Given the description of an element on the screen output the (x, y) to click on. 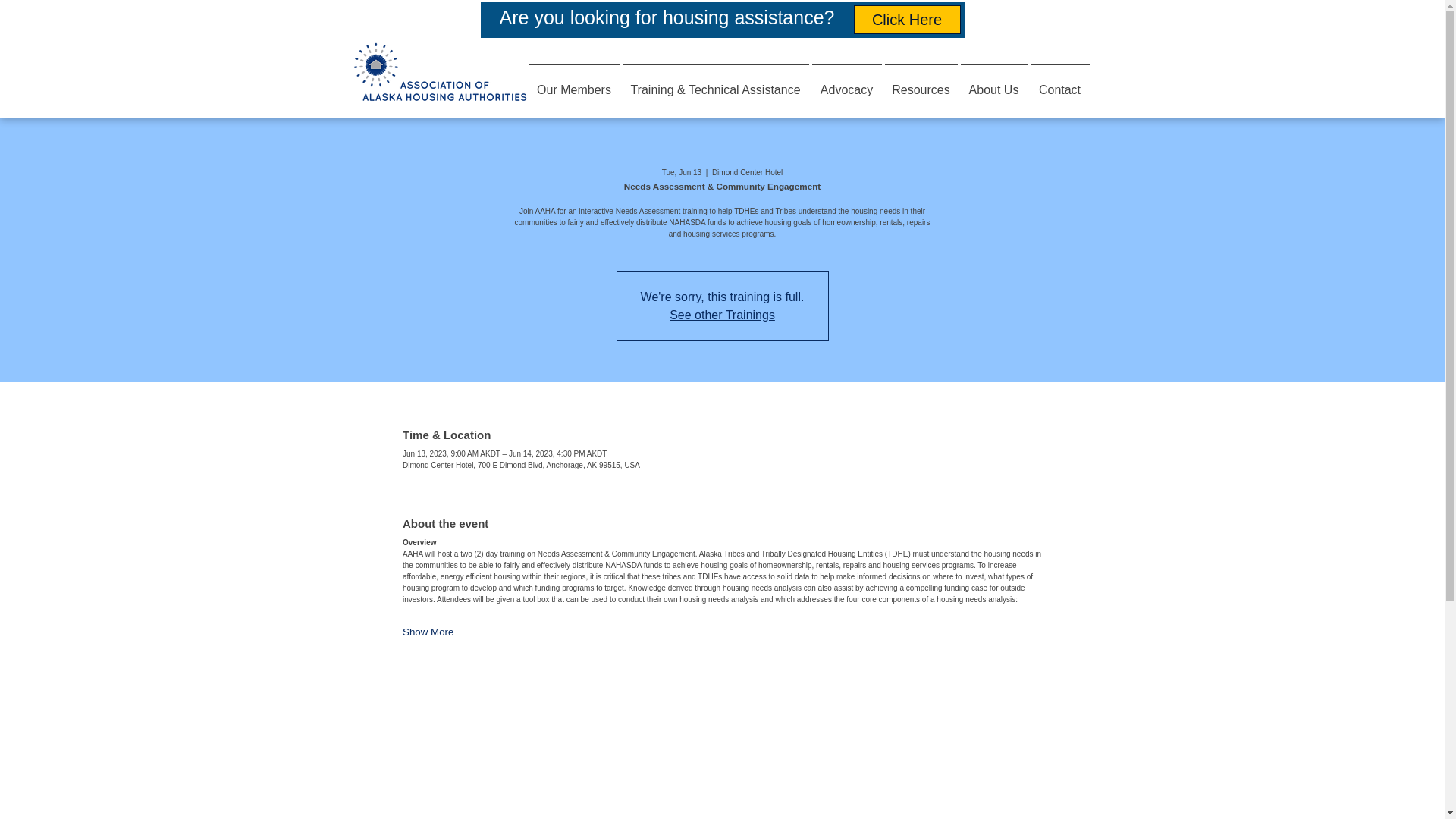
Resources (920, 83)
Contact (1058, 83)
Click Here (906, 19)
Map (721, 745)
Show More (427, 631)
Our Members (574, 83)
See other Trainings (721, 314)
About Us (992, 83)
